Given the description of an element on the screen output the (x, y) to click on. 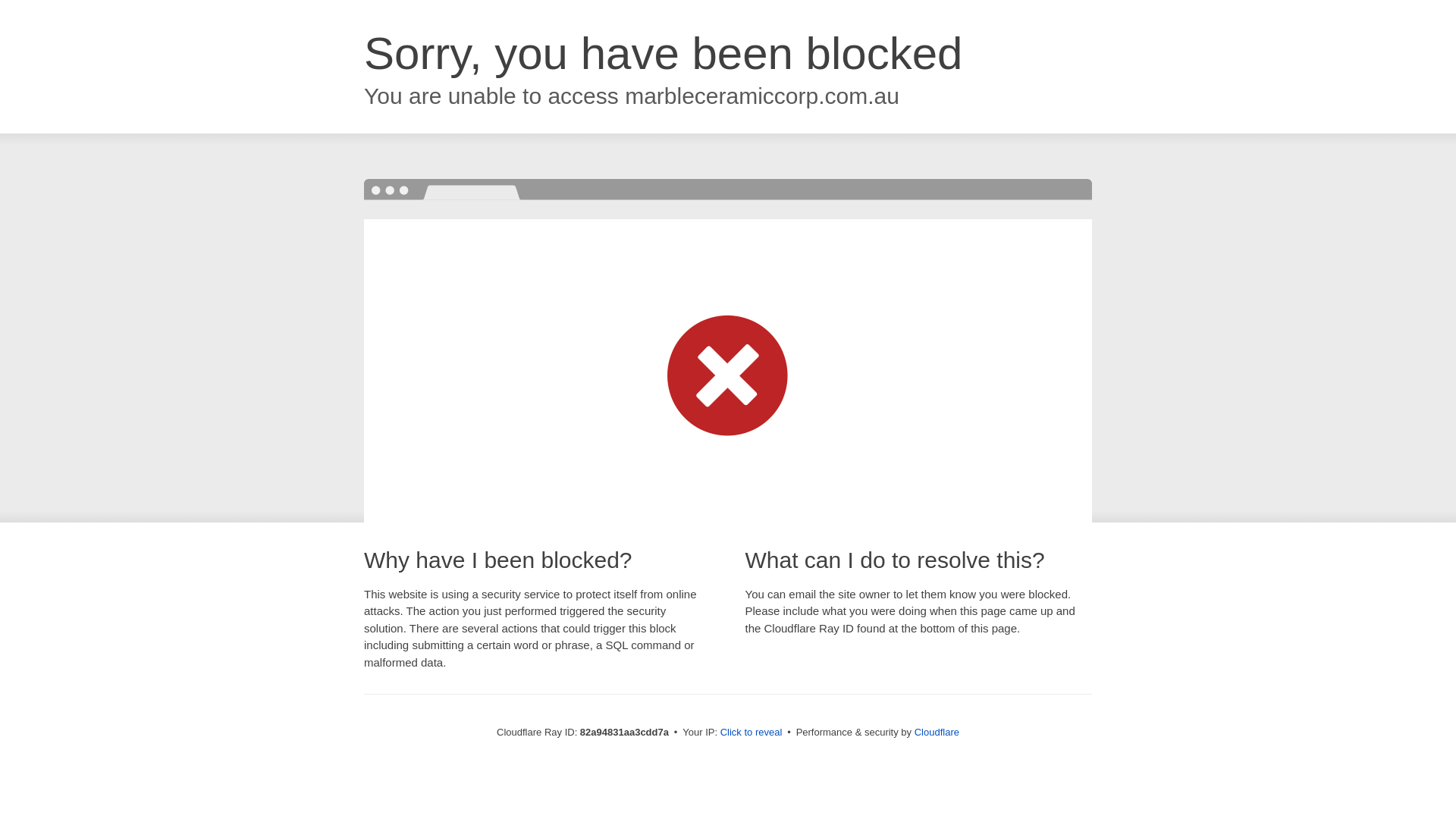
Click to reveal Element type: text (751, 732)
Cloudflare Element type: text (936, 731)
